Given the description of an element on the screen output the (x, y) to click on. 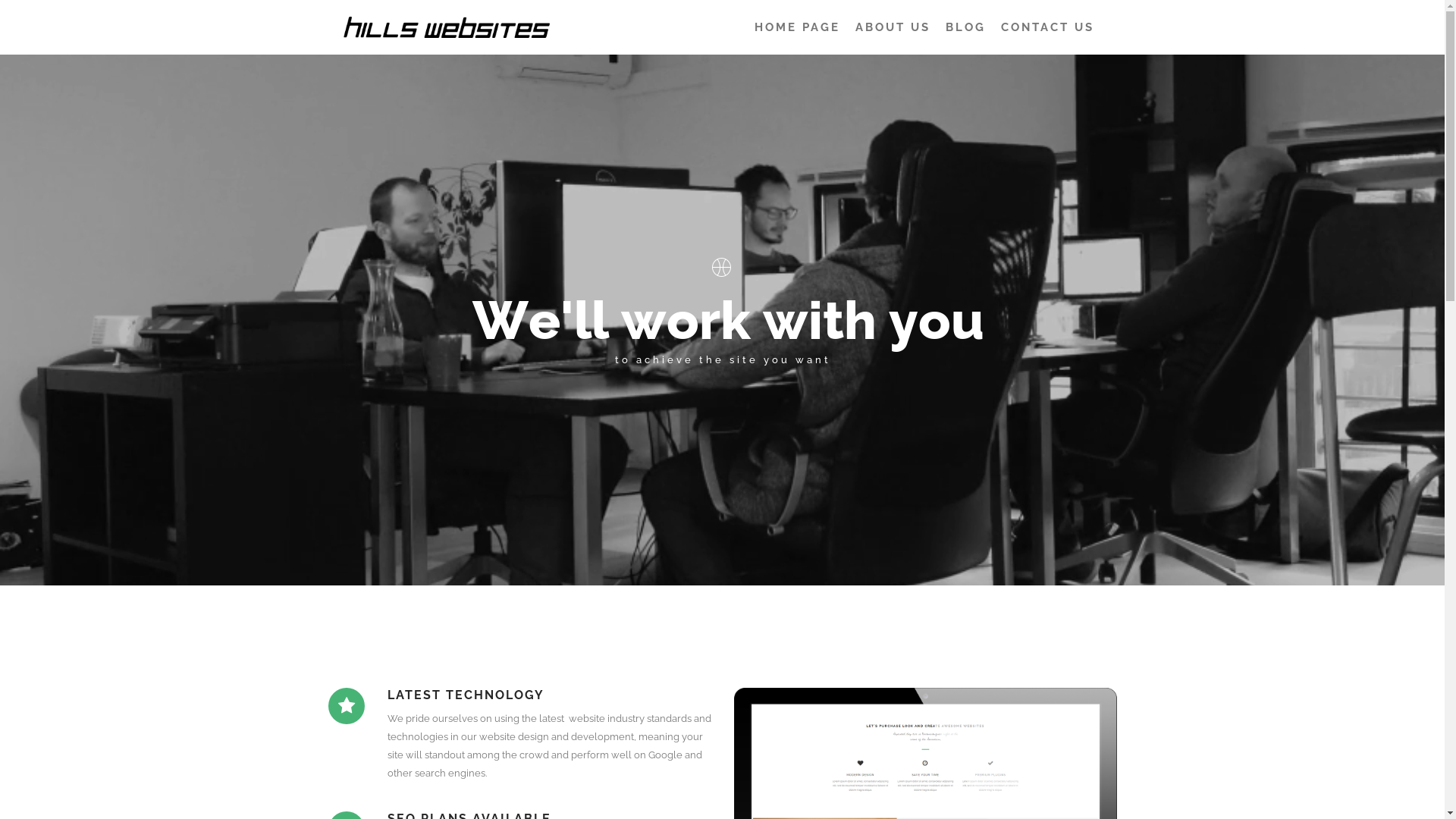
Search Element type: text (1358, 100)
BLOG Element type: text (964, 27)
CONTACT US Element type: text (1047, 27)
HOME PAGE Element type: text (796, 27)
ABOUT US Element type: text (892, 27)
HILLS WEBSITES Element type: text (624, 35)
